Given the description of an element on the screen output the (x, y) to click on. 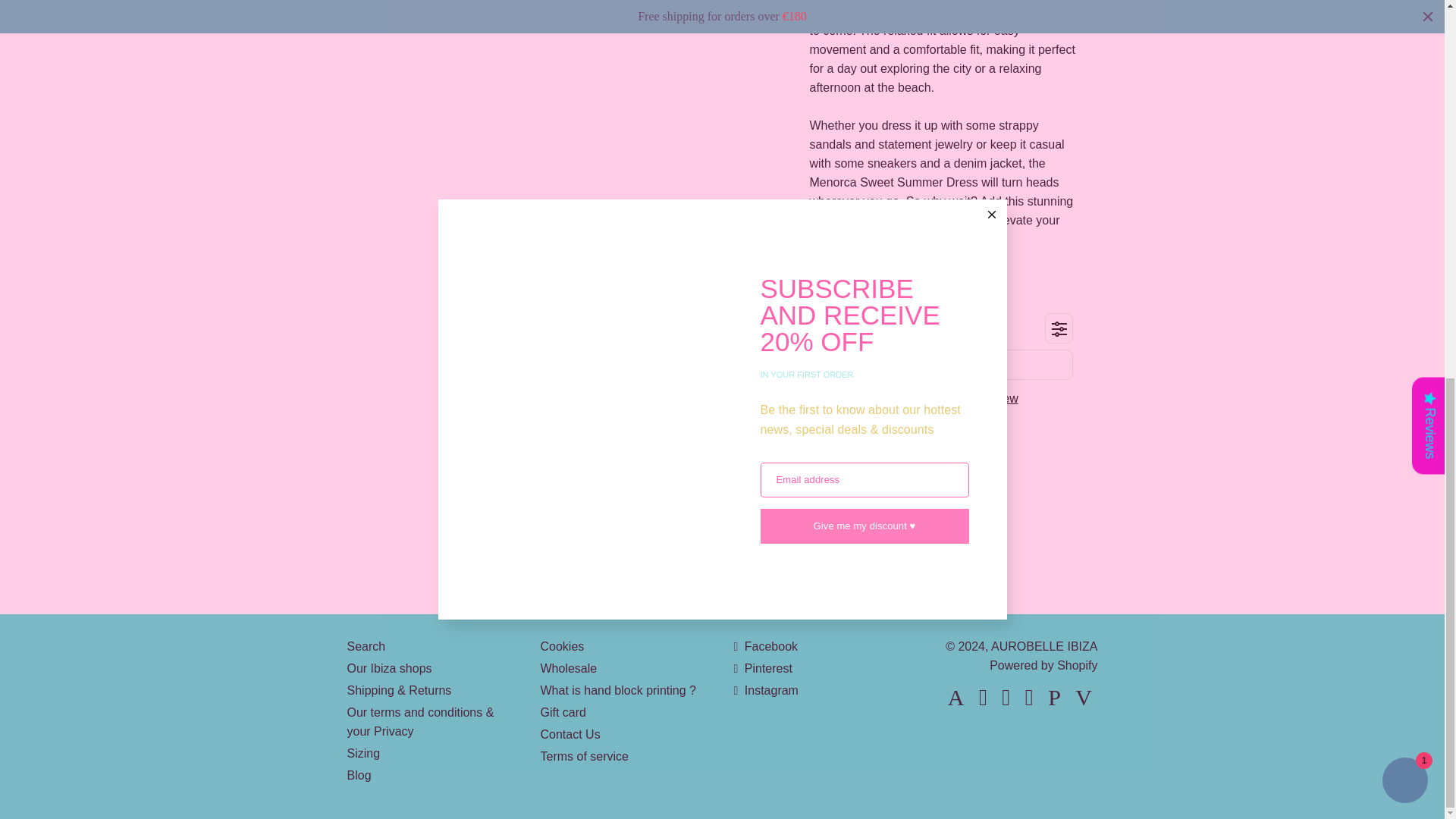
 AUROBELLE  IBIZA on Instagram (765, 689)
 AUROBELLE  IBIZA on Pinterest (762, 667)
Pin on Pinterest (971, 476)
Share on Facebook (918, 476)
Shopify online store chat (1404, 82)
 AUROBELLE  IBIZA on Facebook (765, 645)
Product reviews widget (943, 379)
